Given the description of an element on the screen output the (x, y) to click on. 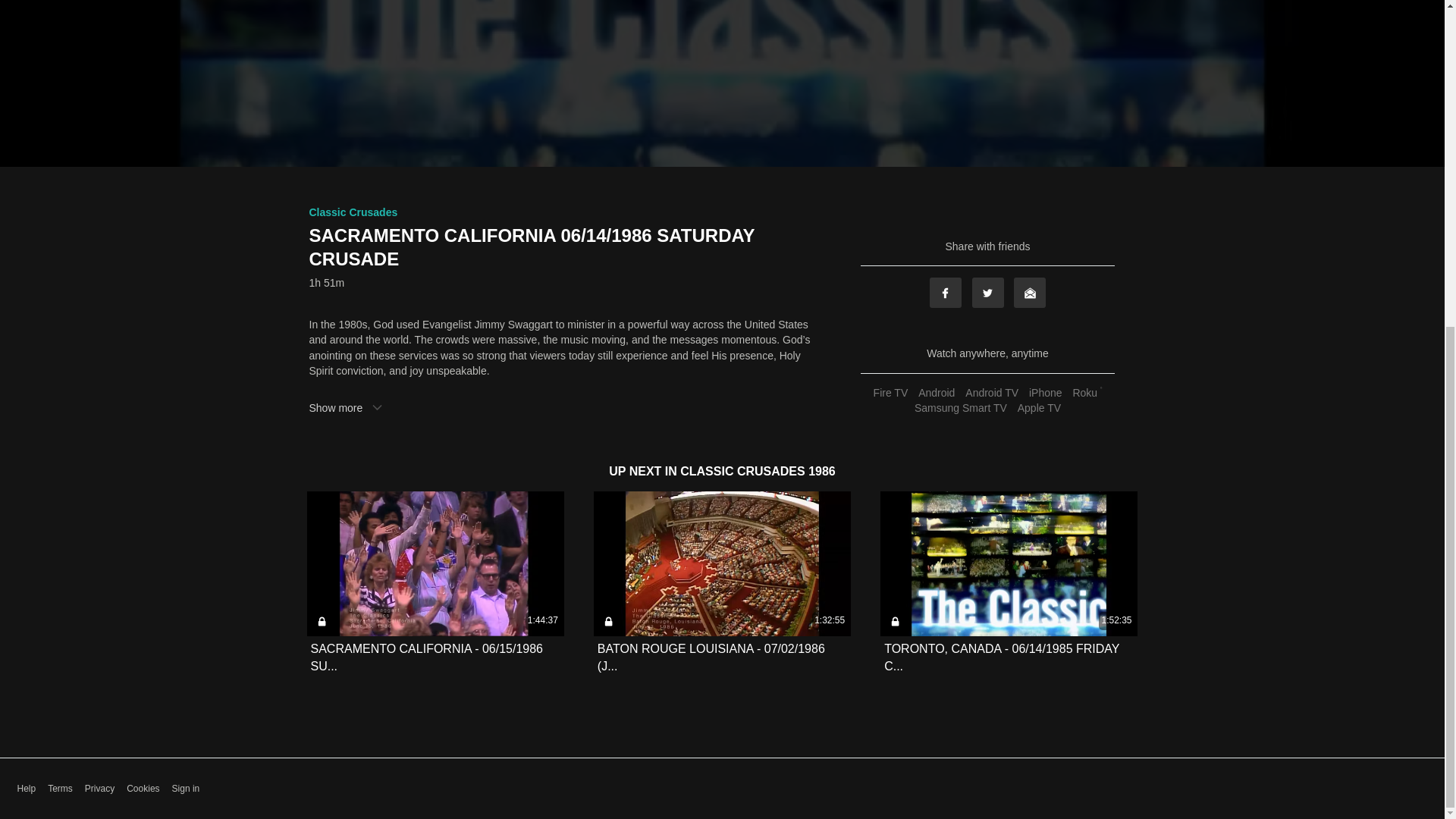
1:44:37 (434, 563)
1:32:55 (722, 563)
Samsung Smart TV (960, 408)
CLASSIC CRUSADES 1986 (757, 471)
Twitter (988, 292)
Classic Crusades (352, 212)
Help (25, 788)
1:52:35 (1008, 563)
Email (1029, 292)
Android (936, 392)
Android TV (991, 392)
iPhone (1045, 392)
Facebook (945, 292)
Fire TV (890, 392)
Apple TV (1038, 408)
